Given the description of an element on the screen output the (x, y) to click on. 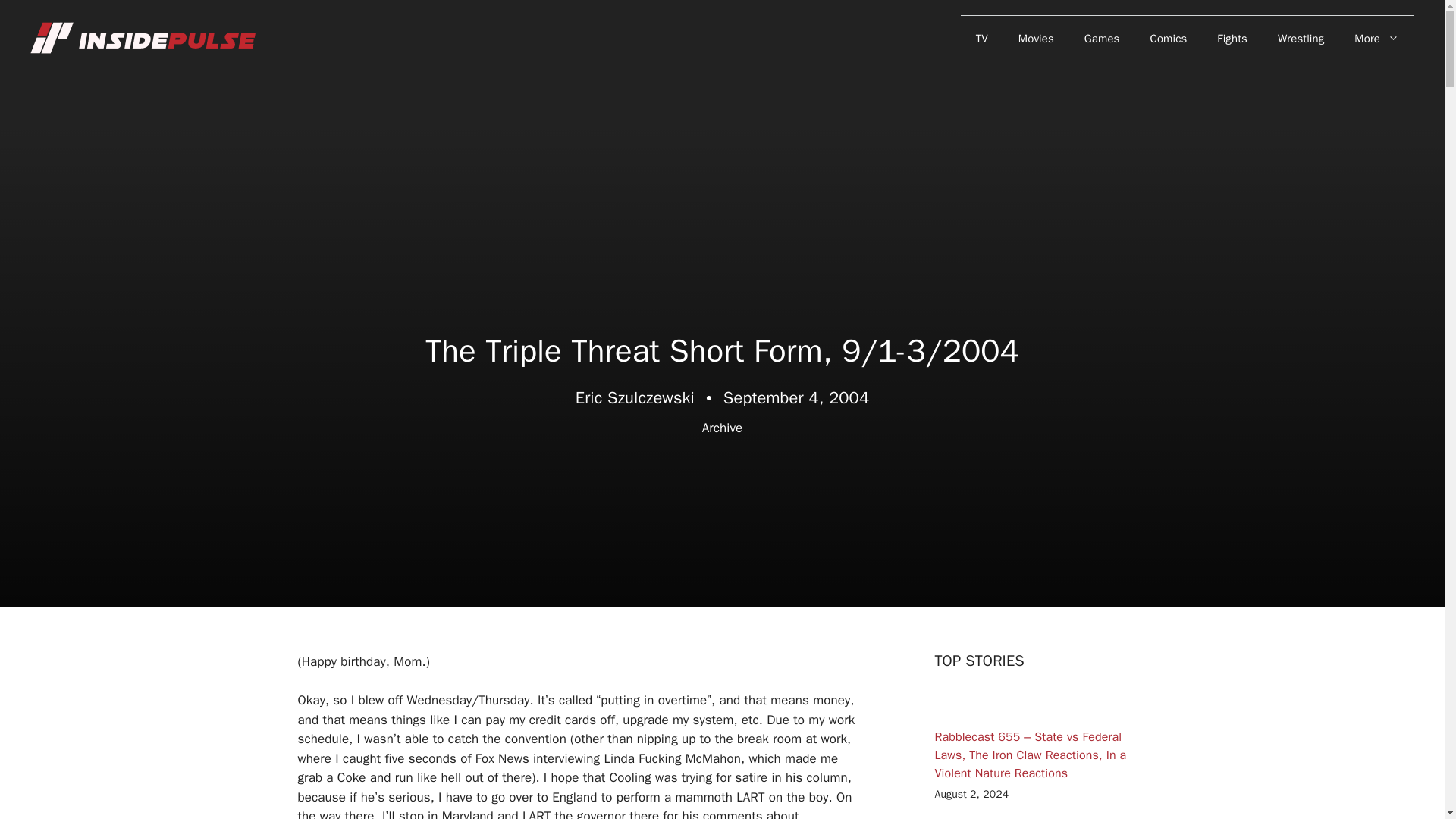
Inside Pulse (143, 38)
Movies (1035, 38)
Games (1101, 38)
TV (981, 38)
Inside Pulse (143, 37)
More (1376, 38)
Comics (1168, 38)
Eric Szulczewski (634, 397)
Fights (1232, 38)
Wrestling (1300, 38)
